Given the description of an element on the screen output the (x, y) to click on. 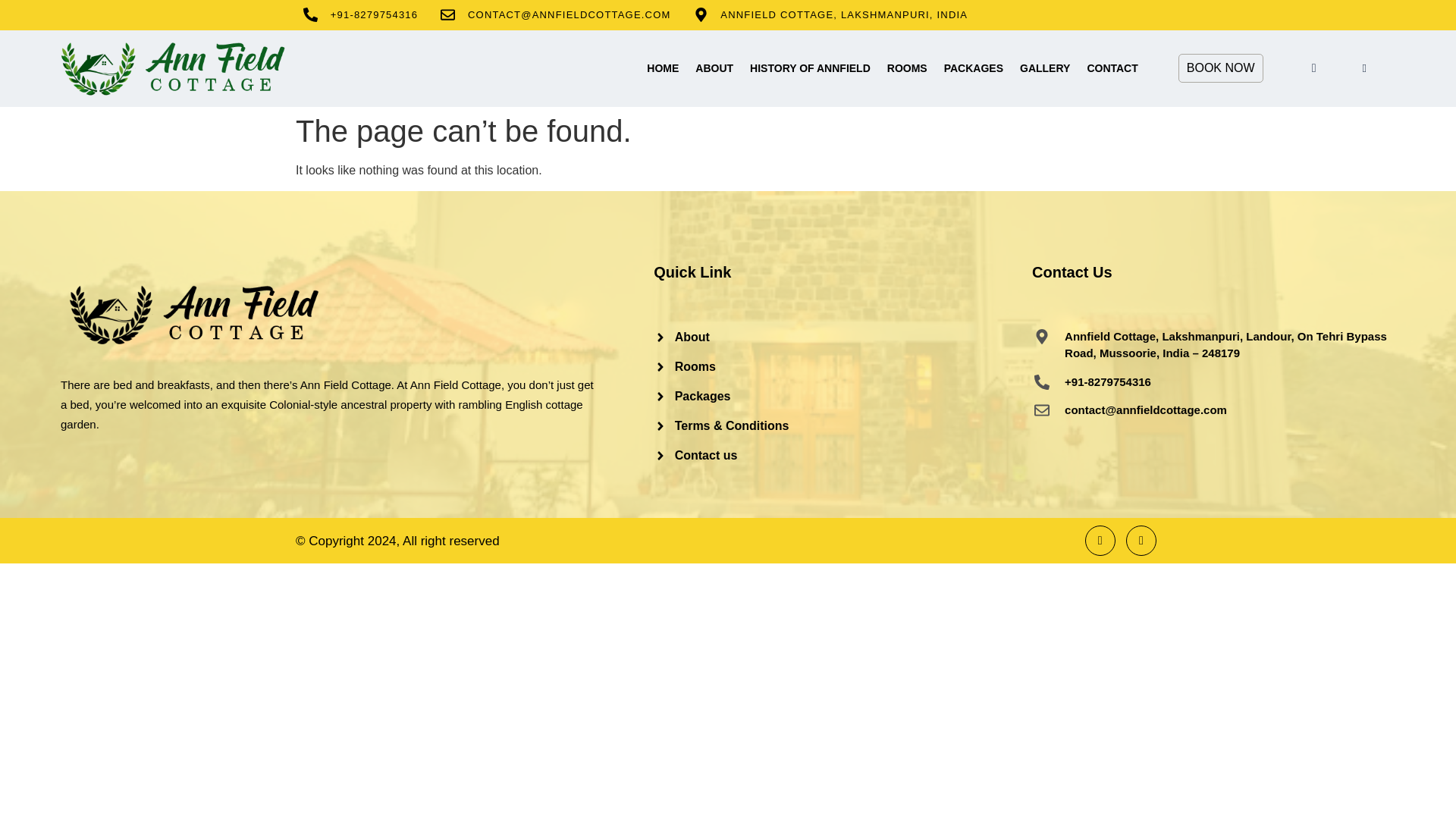
ABOUT (714, 67)
HISTORY OF ANNFIELD (810, 67)
Packages (842, 395)
GALLERY (1044, 67)
About (842, 336)
Rooms (842, 366)
BOOK NOW (1220, 68)
HOME (663, 67)
ROOMS (907, 67)
CONTACT (1111, 67)
PACKAGES (973, 67)
Contact us (842, 454)
